Given the description of an element on the screen output the (x, y) to click on. 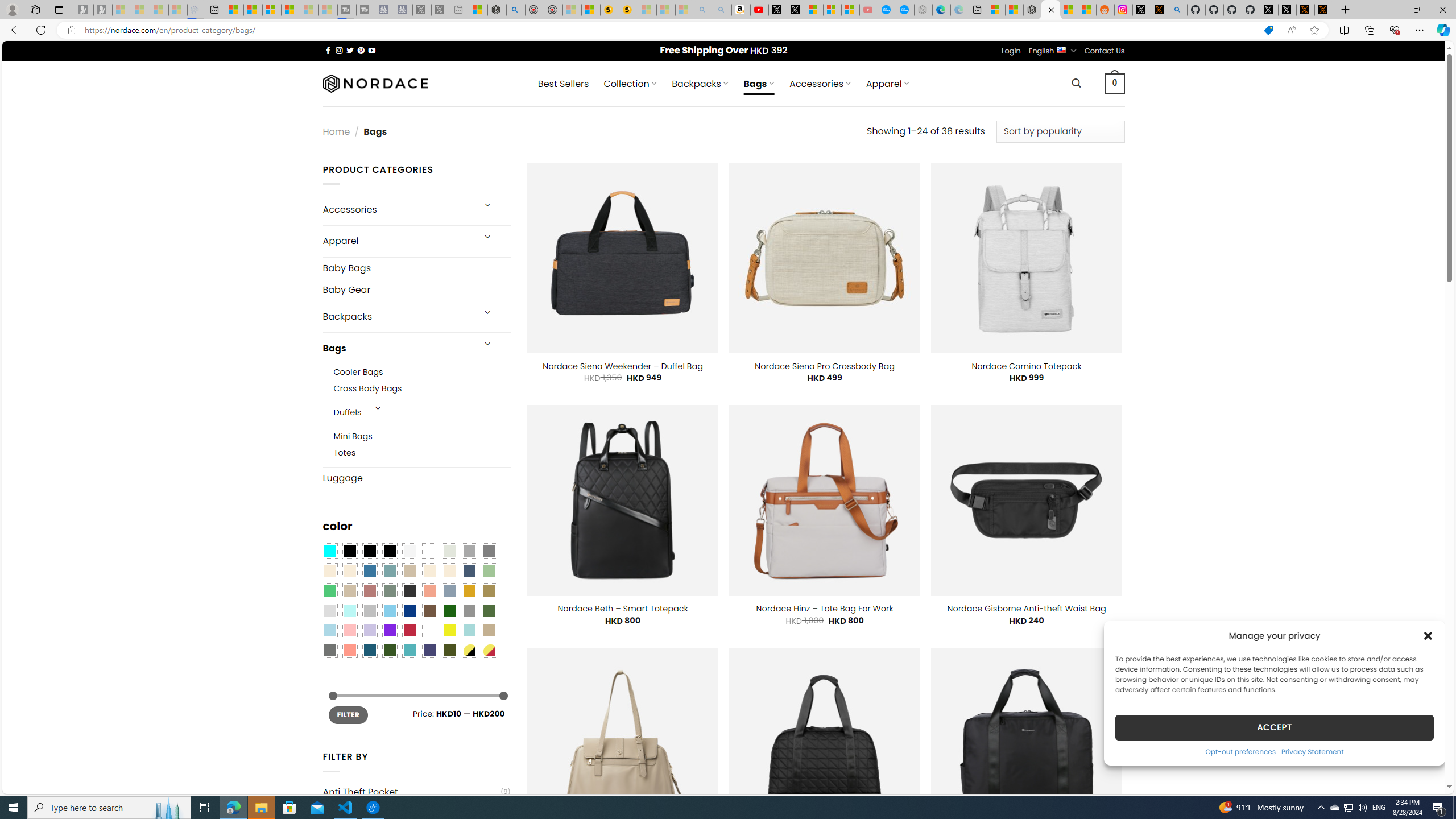
Light Purple (369, 630)
All Black (349, 550)
Khaki (488, 630)
Duffels (347, 412)
Baby Bags (416, 268)
Beige (329, 570)
Mini Bags (352, 436)
Login (1010, 50)
help.x.com | 524: A timeout occurred (1159, 9)
